Given the description of an element on the screen output the (x, y) to click on. 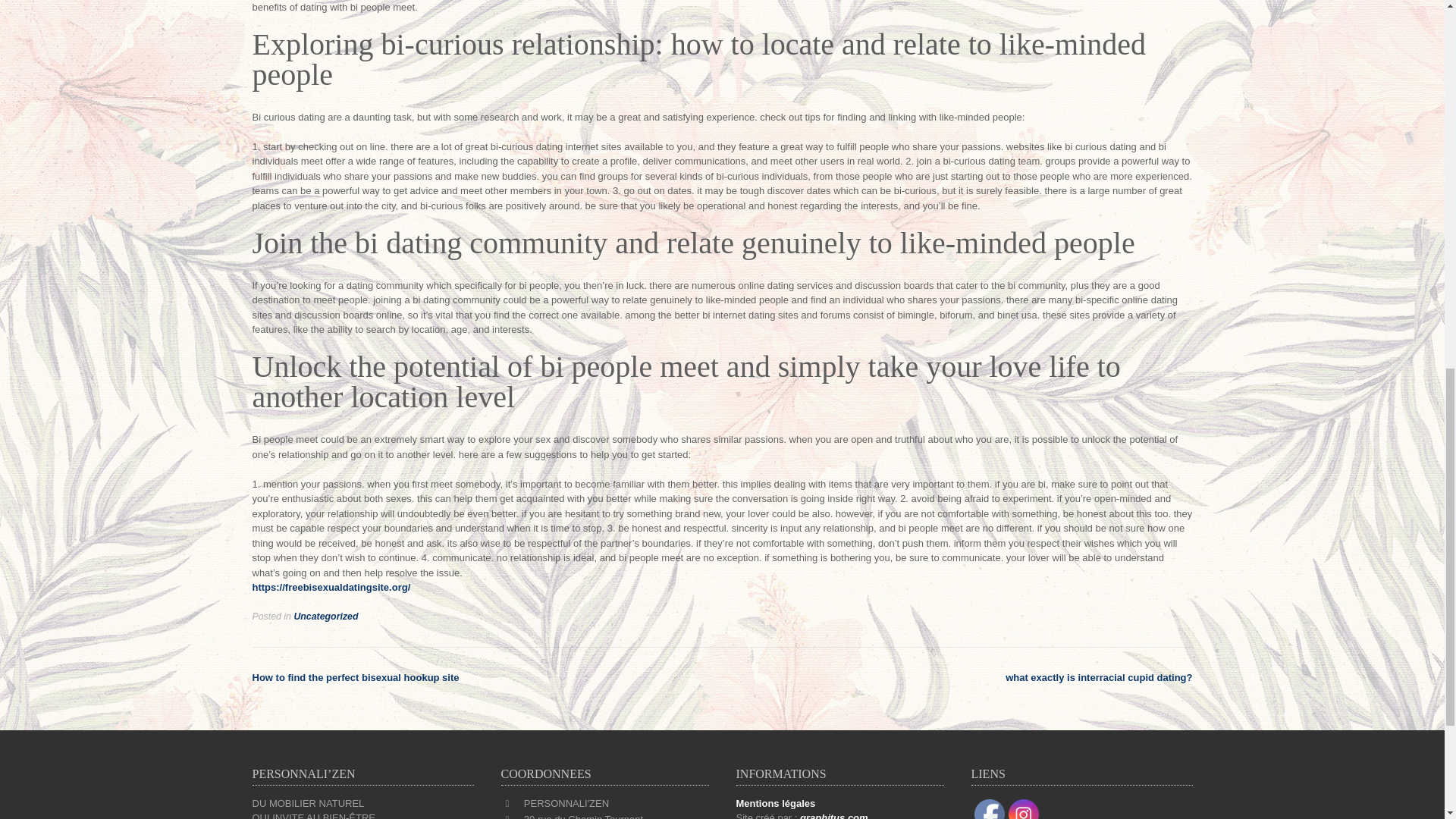
Facebook (989, 809)
what exactly is interracial cupid dating? (1099, 677)
Uncategorized (326, 615)
Instagram (1024, 809)
graphitus.com (833, 815)
How to find the perfect bisexual hookup site (354, 677)
